Given the description of an element on the screen output the (x, y) to click on. 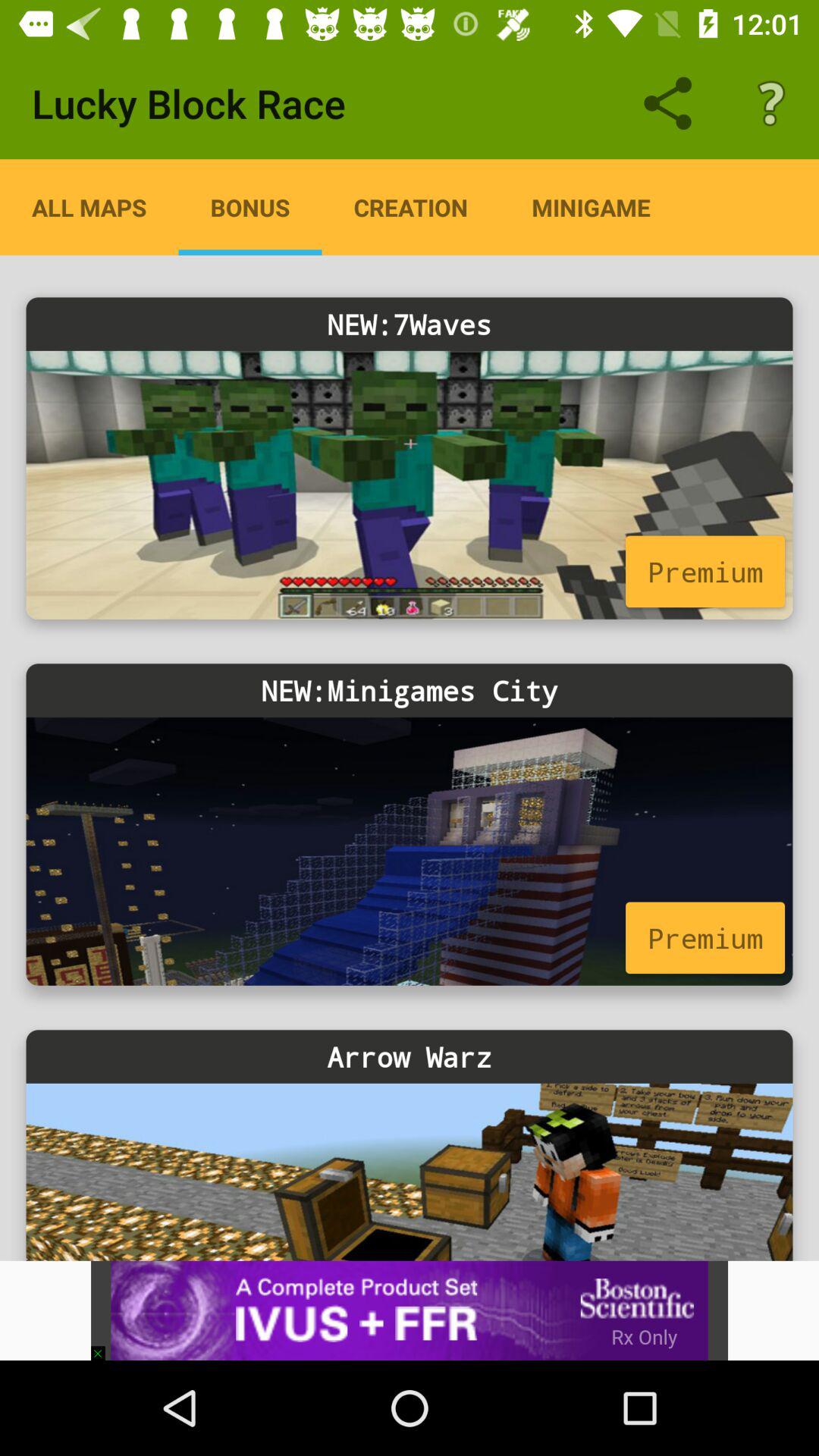
open the item below the lucky block race icon (89, 207)
